Given the description of an element on the screen output the (x, y) to click on. 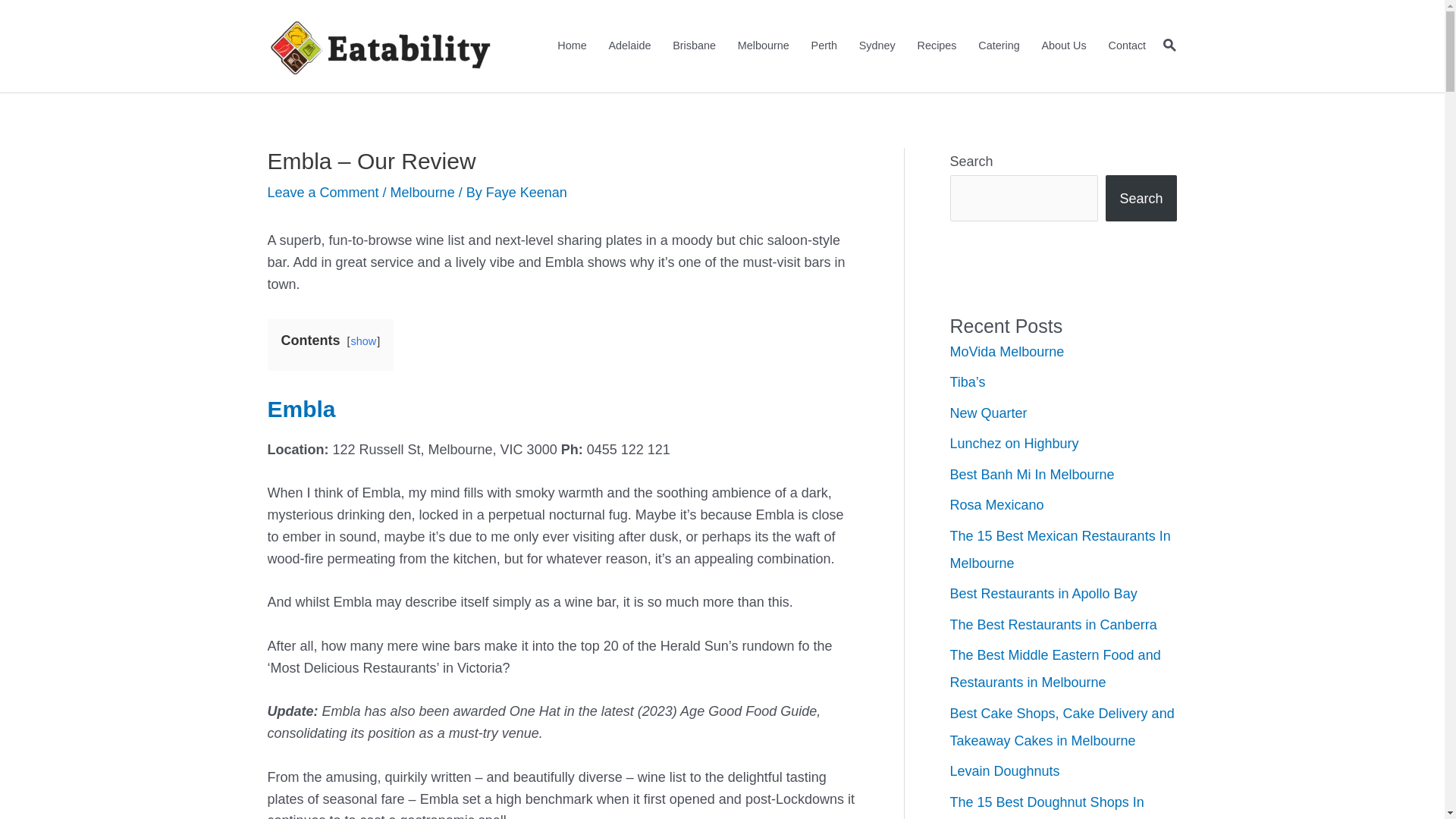
Perth Element type: text (823, 46)
Contact Element type: text (1126, 46)
Lunchez on Highbury Element type: text (1013, 443)
Adelaide Element type: text (629, 46)
Home Element type: text (571, 46)
Rosa Mexicano Element type: text (996, 504)
Levain Doughnuts Element type: text (1004, 770)
Catering Element type: text (998, 46)
Best Restaurants in Apollo Bay Element type: text (1042, 593)
show Element type: text (363, 341)
The Best Restaurants in Canberra Element type: text (1052, 624)
Melbourne Element type: text (763, 46)
Leave a Comment Element type: text (322, 192)
The 15 Best Mexican Restaurants In Melbourne Element type: text (1059, 549)
About Us Element type: text (1063, 46)
Brisbane Element type: text (694, 46)
Embla Element type: text (300, 408)
Best Banh Mi In Melbourne Element type: text (1031, 474)
MoVida Melbourne Element type: text (1006, 351)
Faye Keenan Element type: text (526, 192)
Search Element type: text (1140, 198)
Sydney Element type: text (876, 46)
New Quarter Element type: text (987, 412)
Recipes Element type: text (936, 46)
The Best Middle Eastern Food and Restaurants in Melbourne Element type: text (1054, 668)
Melbourne Element type: text (422, 192)
